Given the description of an element on the screen output the (x, y) to click on. 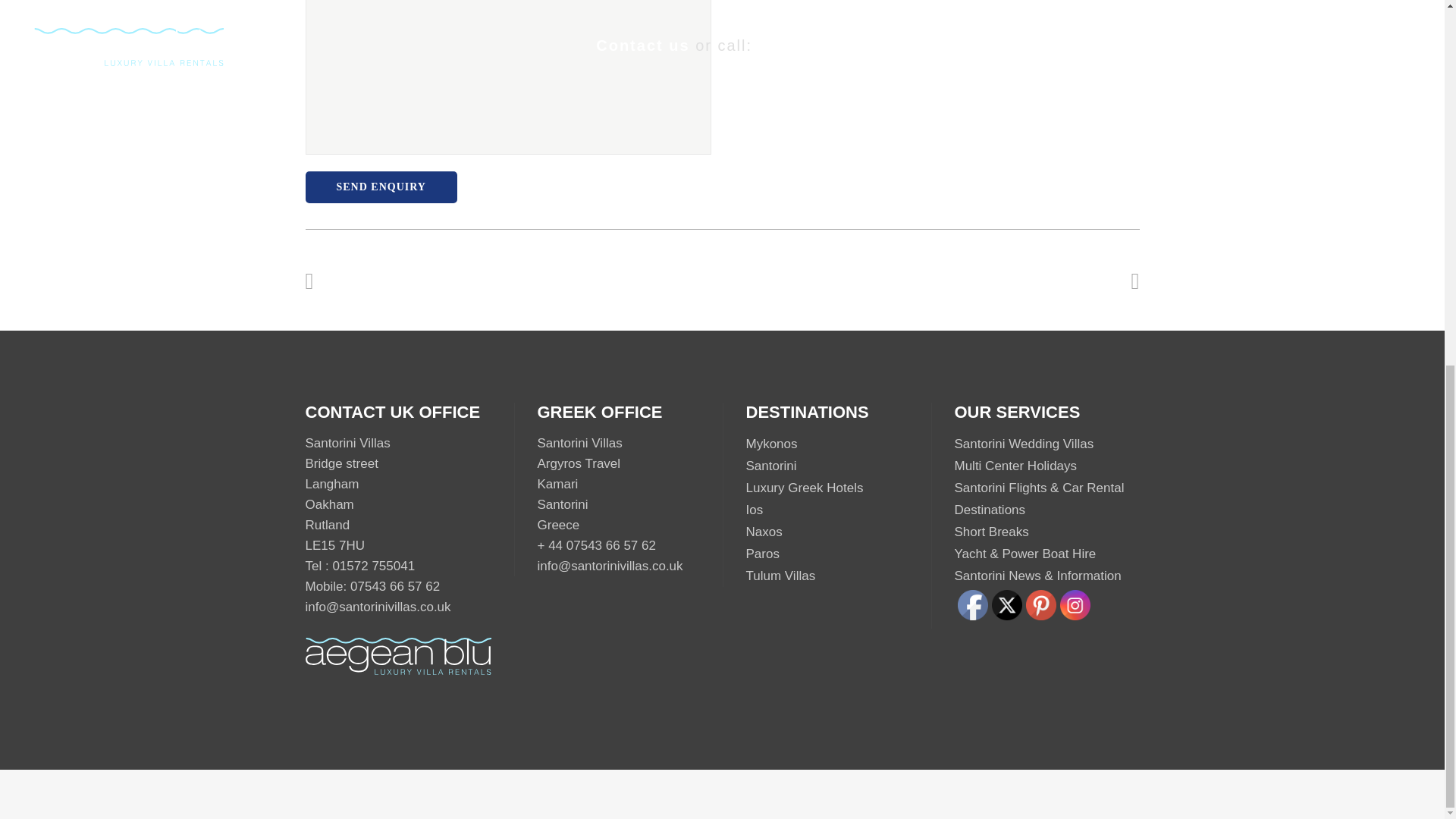
Pinterest (1040, 604)
Instagram (1074, 604)
Send Enquiry (380, 187)
Send Enquiry (380, 187)
Naxos Luxury Hotels (764, 531)
Twitter (1006, 604)
Facebook (971, 604)
Paros Luxury Hotels (761, 554)
Villas in Mykonos (771, 443)
Villas in Santorini (770, 465)
